Given the description of an element on the screen output the (x, y) to click on. 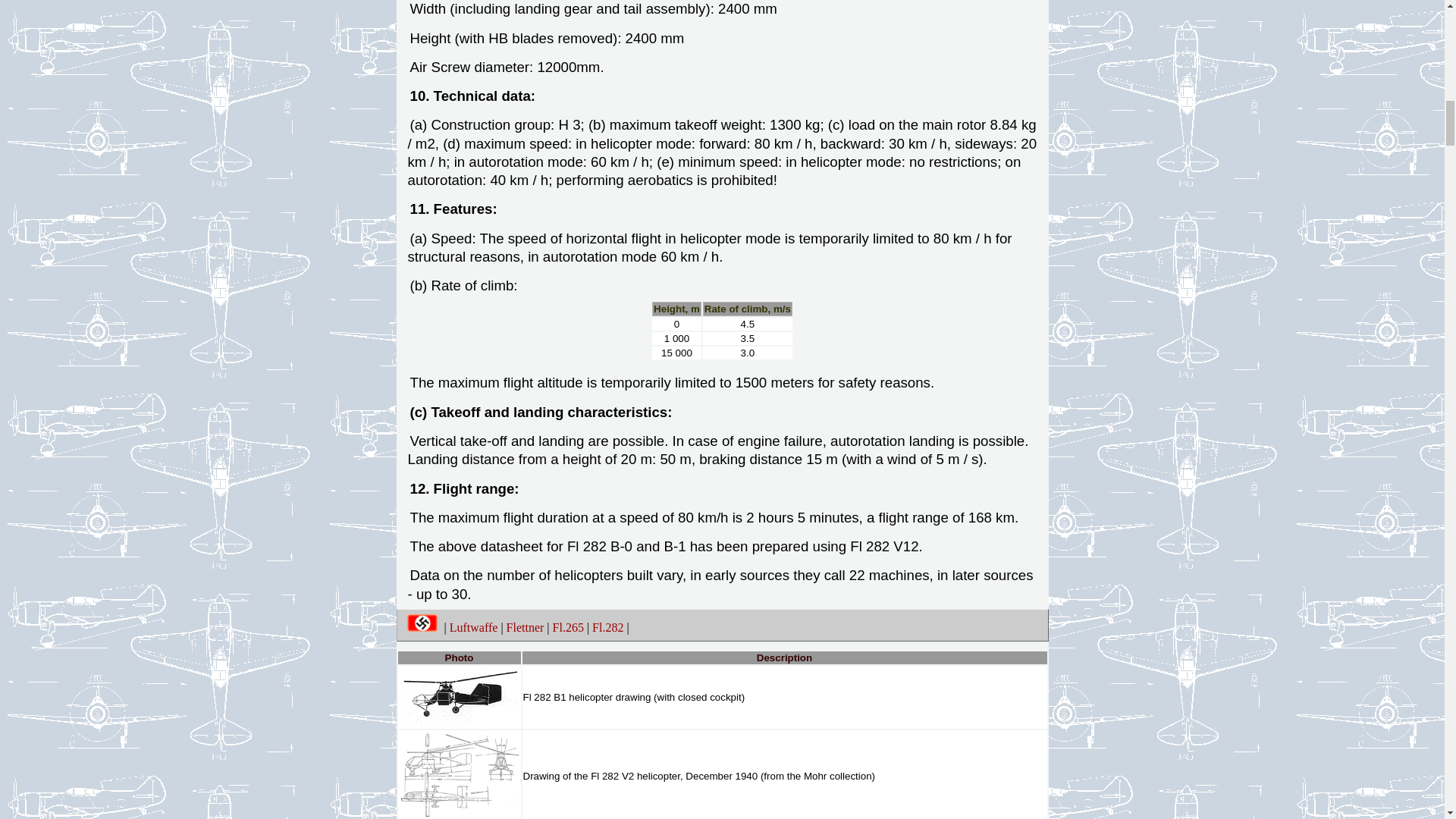
Fl.282 (607, 626)
Fl.265 (568, 626)
Flettner (525, 626)
Luftwaffe (473, 626)
